Given the description of an element on the screen output the (x, y) to click on. 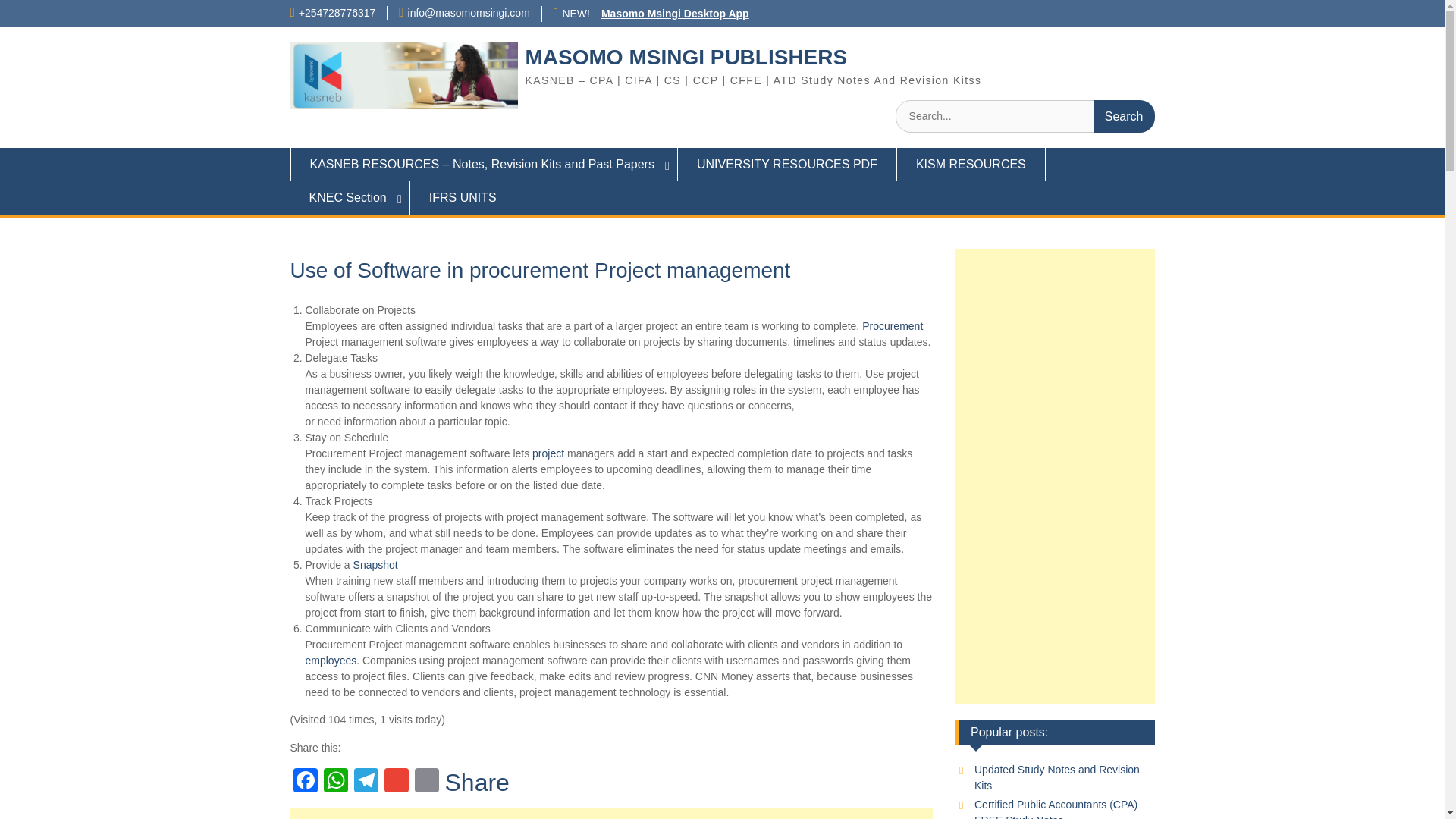
Masomo Msingi Desktop App (675, 13)
Telegram (365, 782)
Procurement (892, 326)
employees (330, 660)
Snapshot (375, 564)
Telegram (365, 782)
Email (425, 782)
KISM RESOURCES (970, 164)
Search for: (1024, 115)
KNEC Section (349, 197)
